Given the description of an element on the screen output the (x, y) to click on. 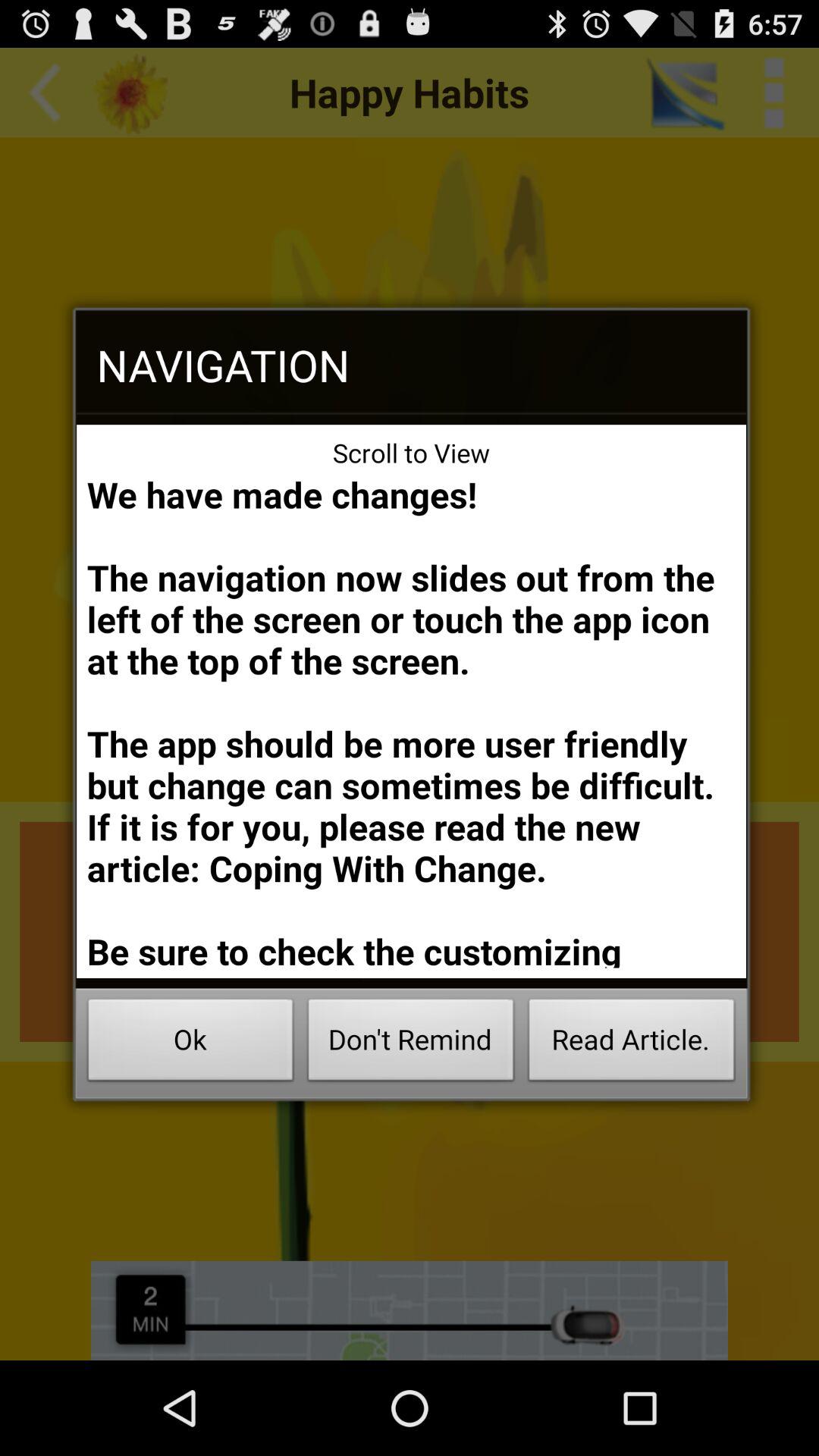
launch the button to the left of the don't remind icon (190, 1044)
